Given the description of an element on the screen output the (x, y) to click on. 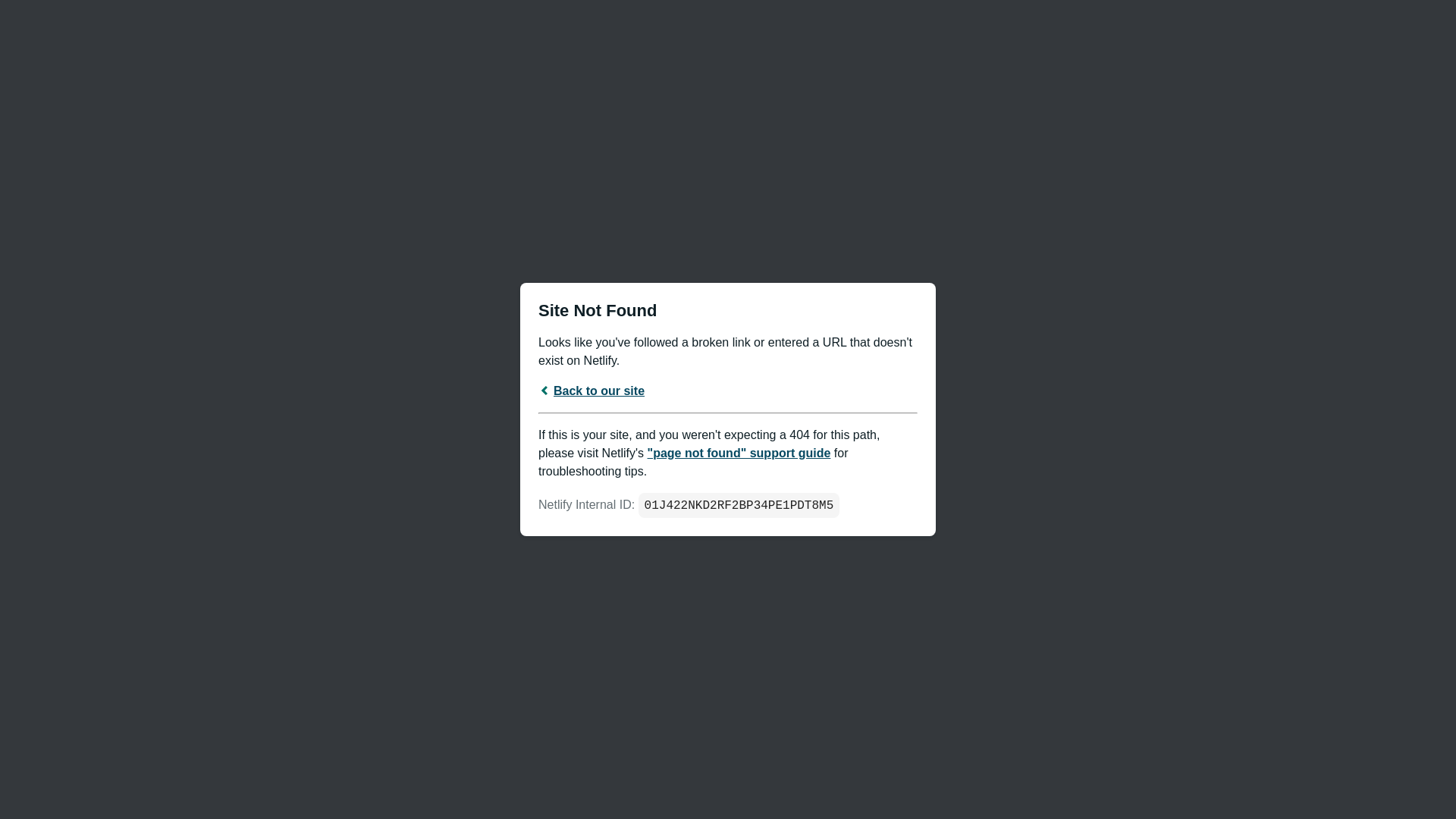
Back to our site (591, 390)
"page not found" support guide (739, 452)
